Given the description of an element on the screen output the (x, y) to click on. 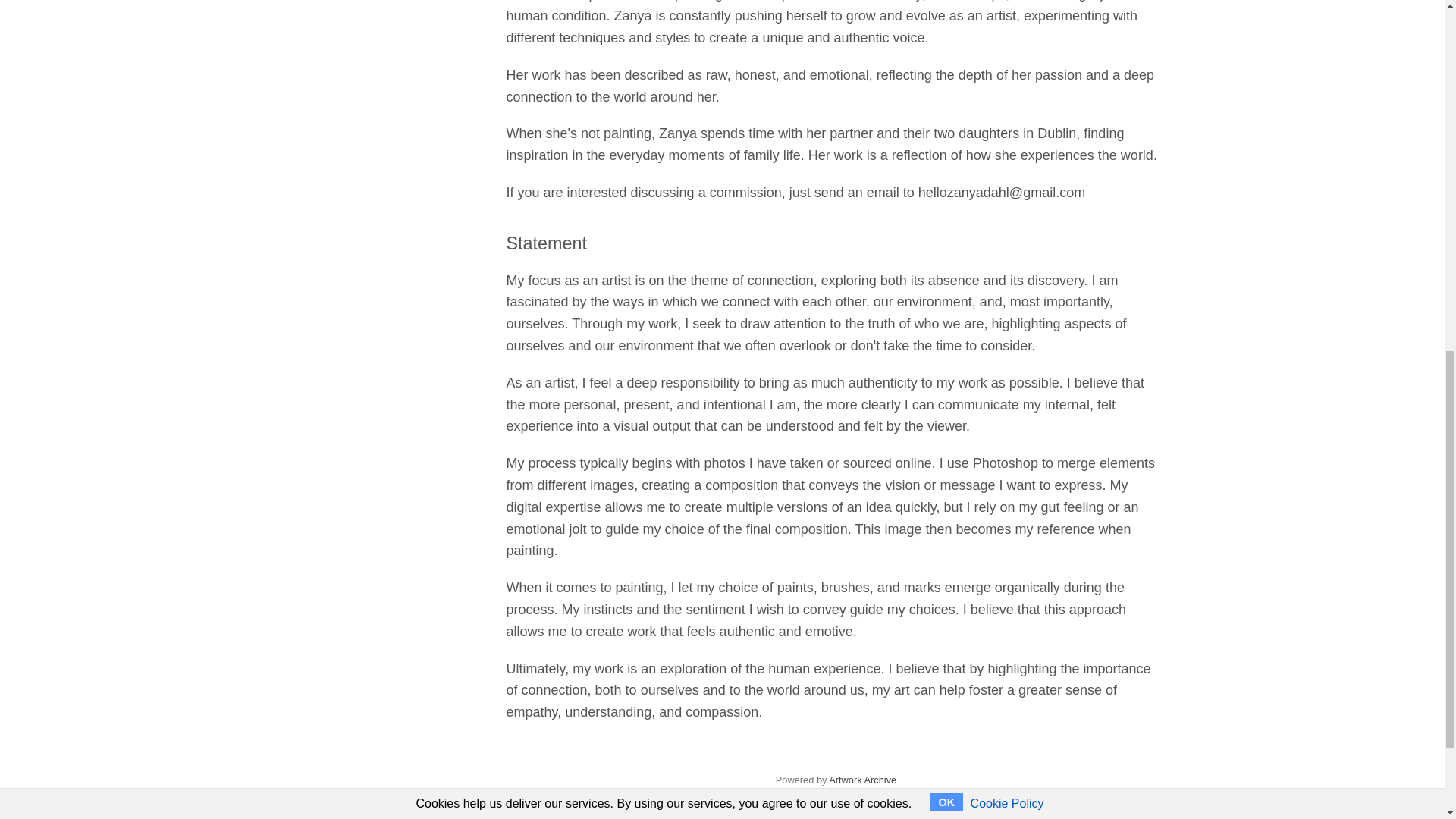
OK (946, 102)
Artwork Archive (862, 779)
Cookie Policy (1007, 103)
